Given the description of an element on the screen output the (x, y) to click on. 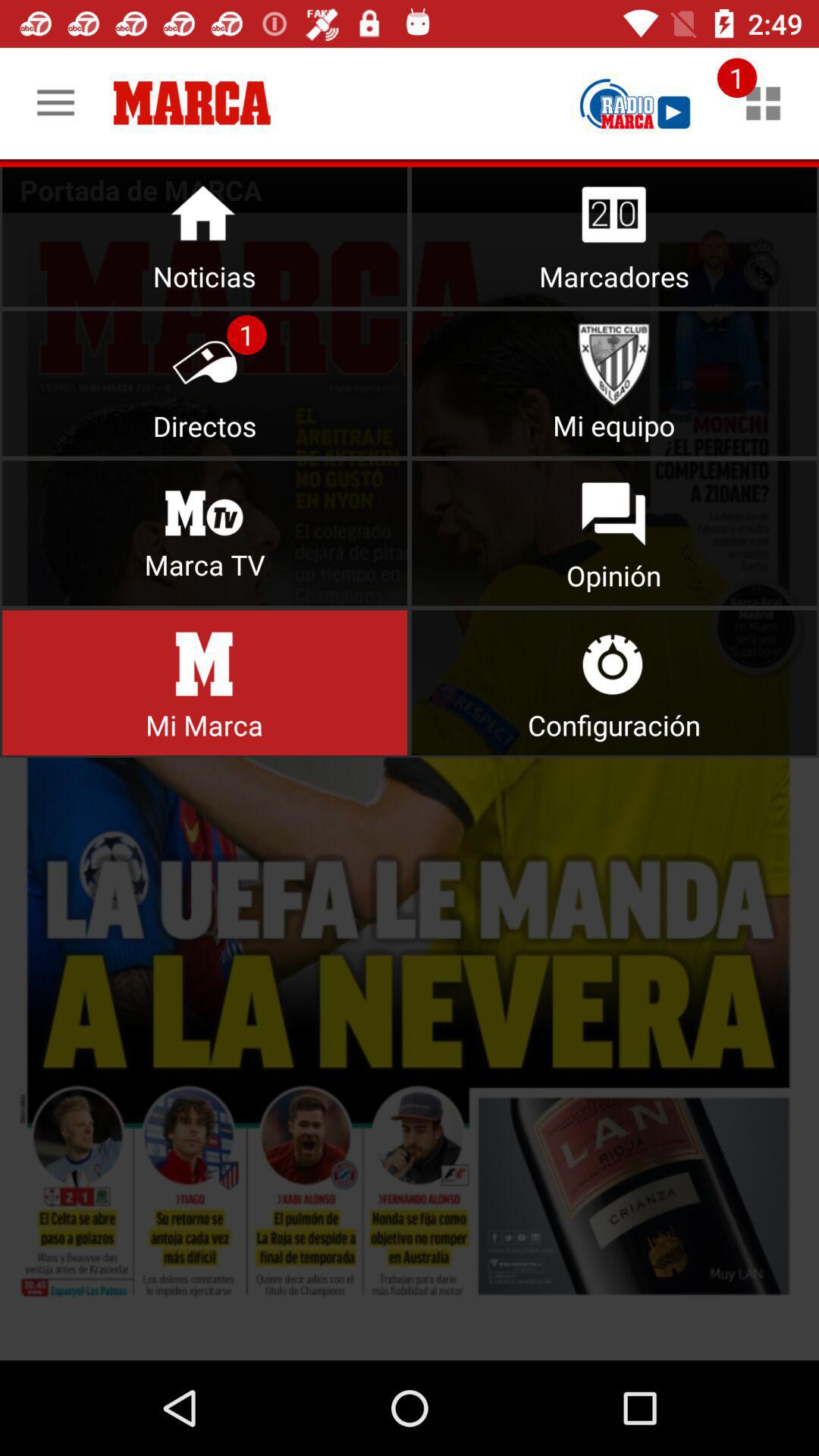
button on navigation bar (614, 682)
